Given the description of an element on the screen output the (x, y) to click on. 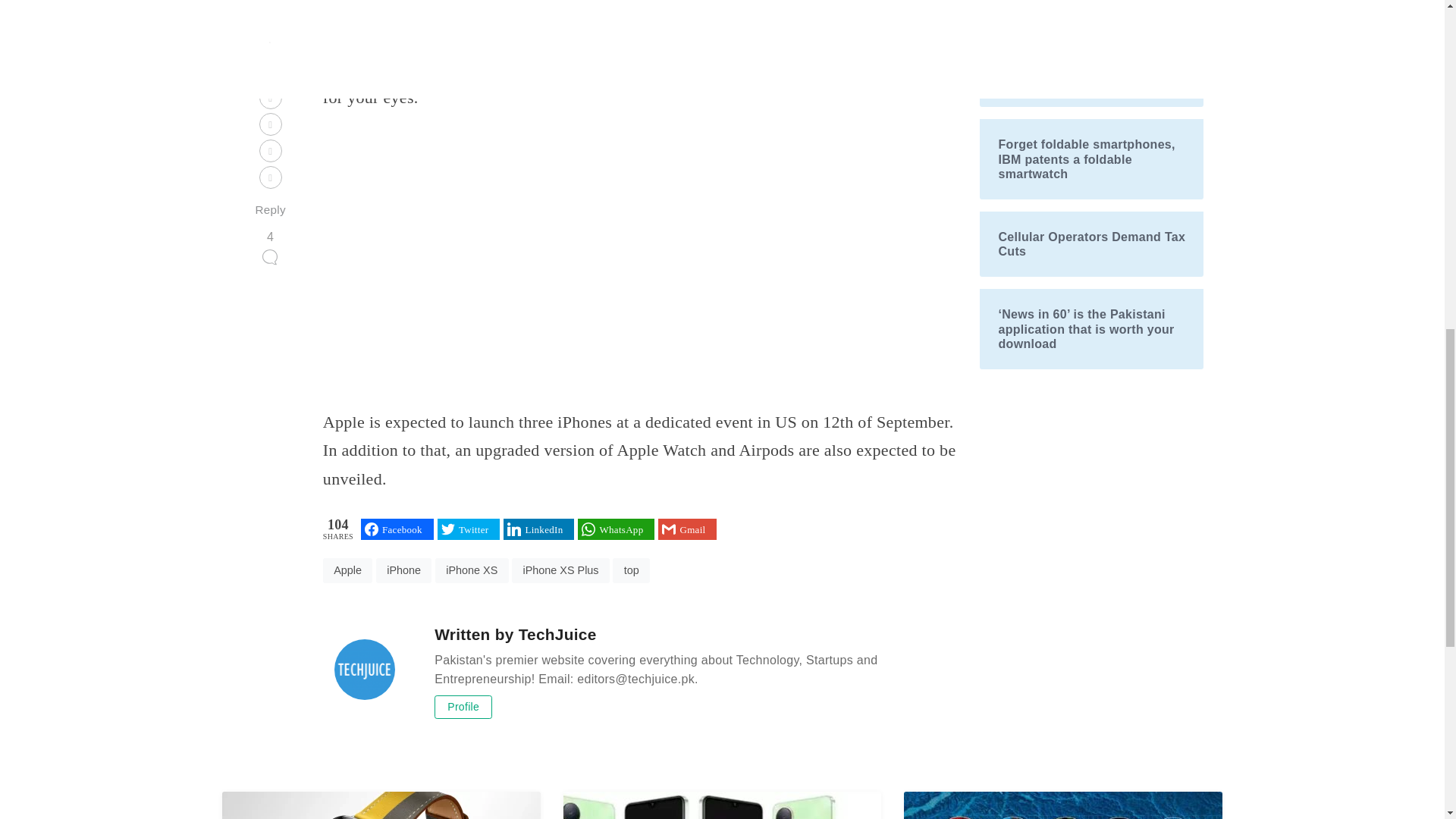
Share on Gmail (687, 528)
Share on LinkedIn (538, 528)
Share on WhatsApp (615, 528)
Share on Twitter (468, 528)
Share on Facebook (397, 528)
